Given the description of an element on the screen output the (x, y) to click on. 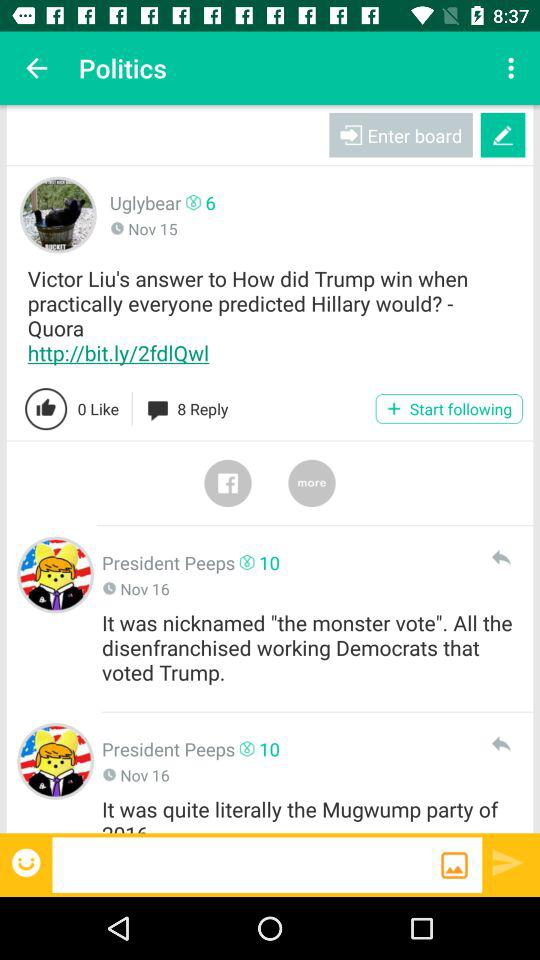
share the emoji (28, 862)
